Given the description of an element on the screen output the (x, y) to click on. 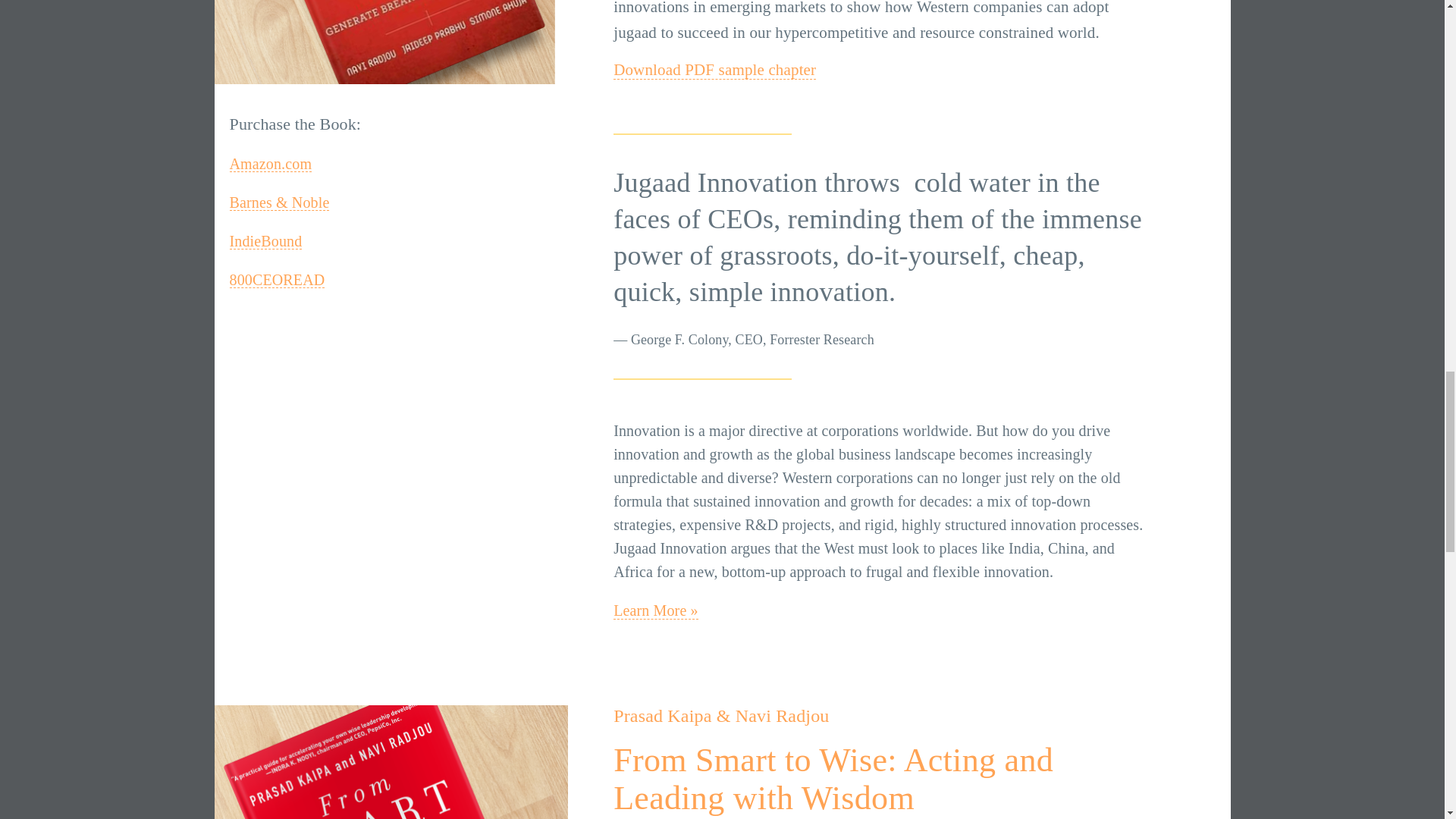
IndieBound (264, 241)
800CEOREAD (276, 279)
Download PDF sample chapter (713, 69)
Amazon.com (269, 163)
